Given the description of an element on the screen output the (x, y) to click on. 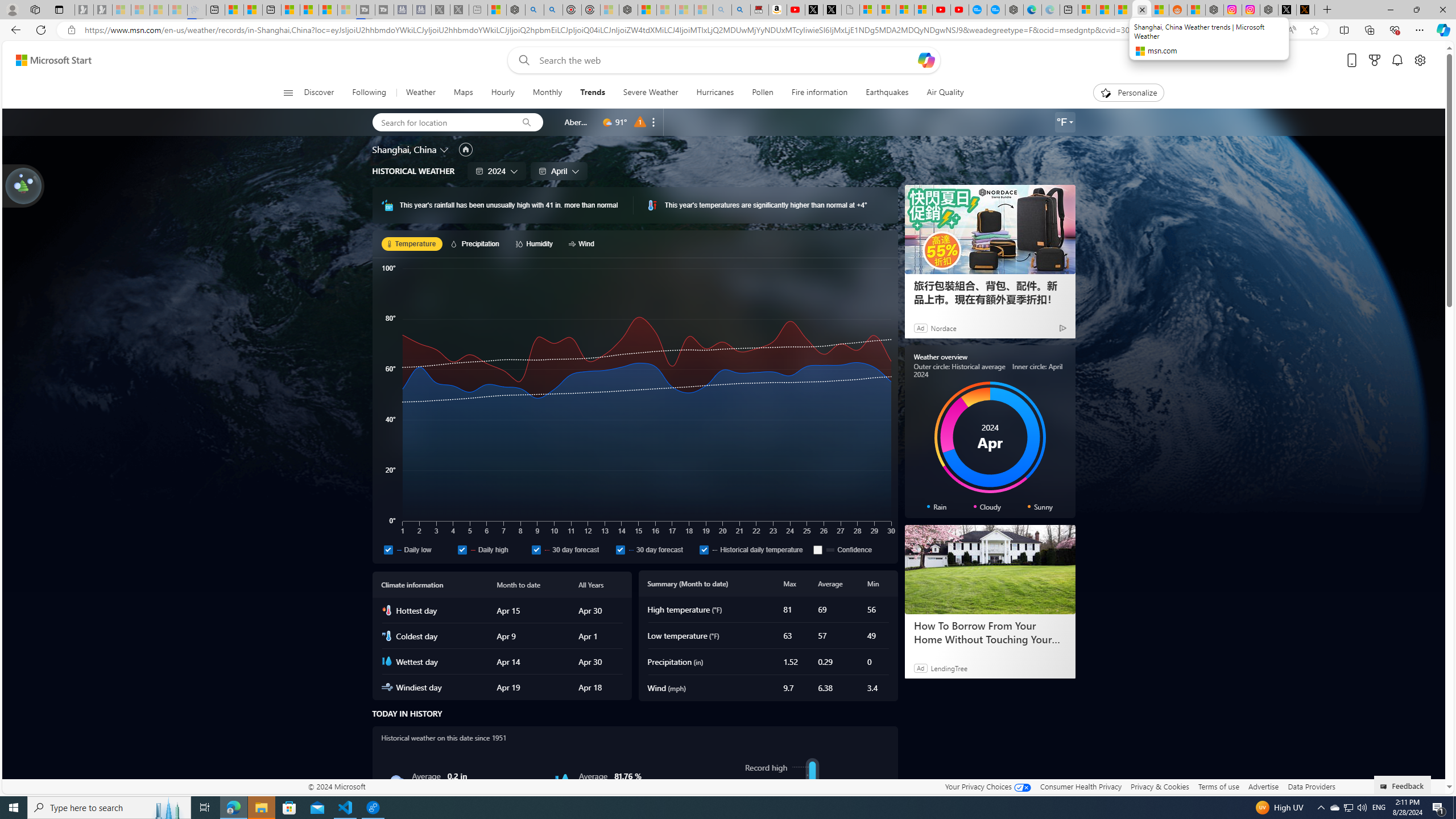
Search for location (440, 122)
Earthquakes (886, 92)
Maps (462, 92)
Enter your search term (726, 59)
Trends (592, 92)
